Given the description of an element on the screen output the (x, y) to click on. 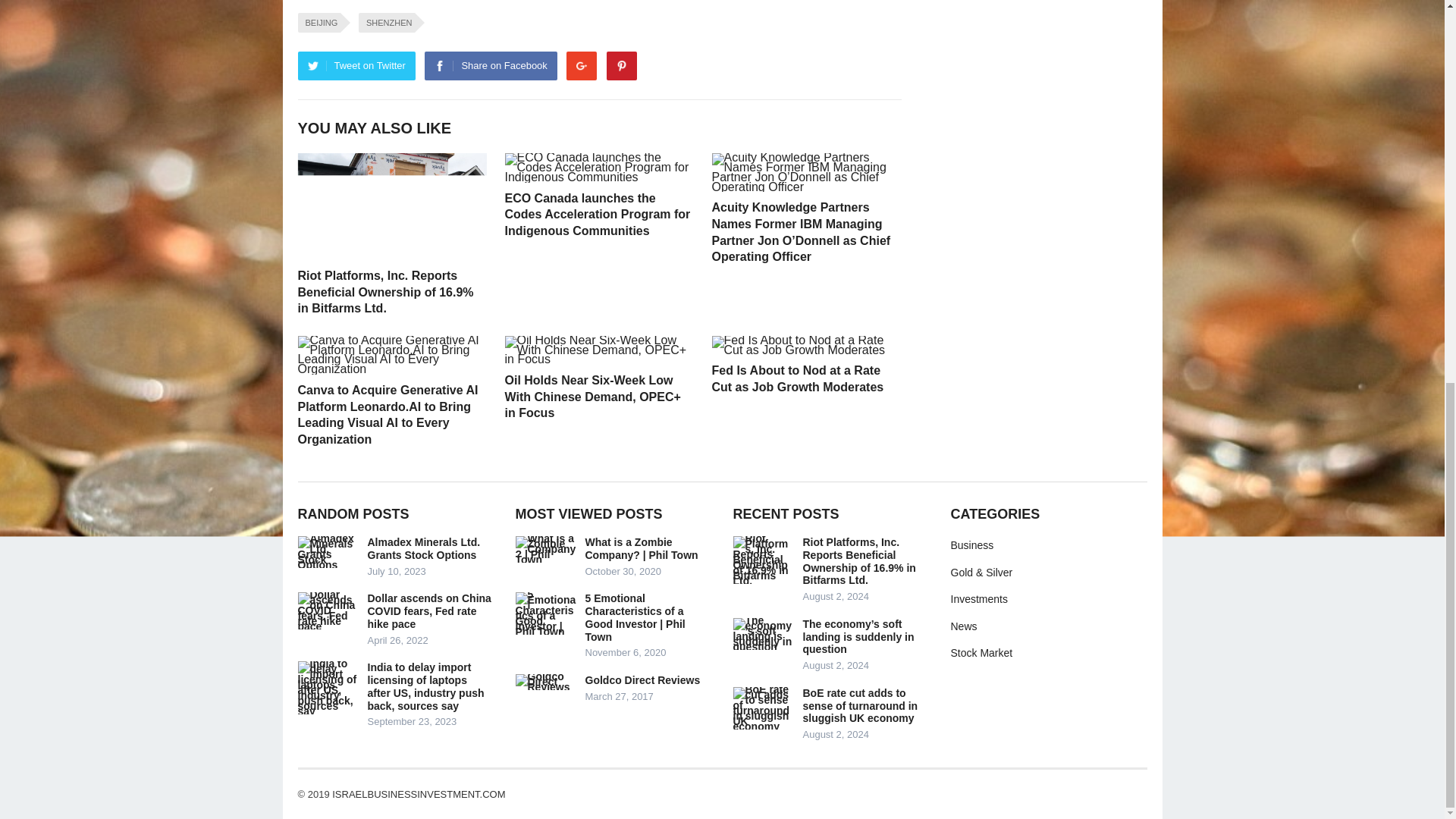
BEIJING (318, 22)
Tweet on Twitter (355, 65)
SHENZHEN (386, 22)
Share on Facebook (490, 65)
Pinterest (622, 65)
